Given the description of an element on the screen output the (x, y) to click on. 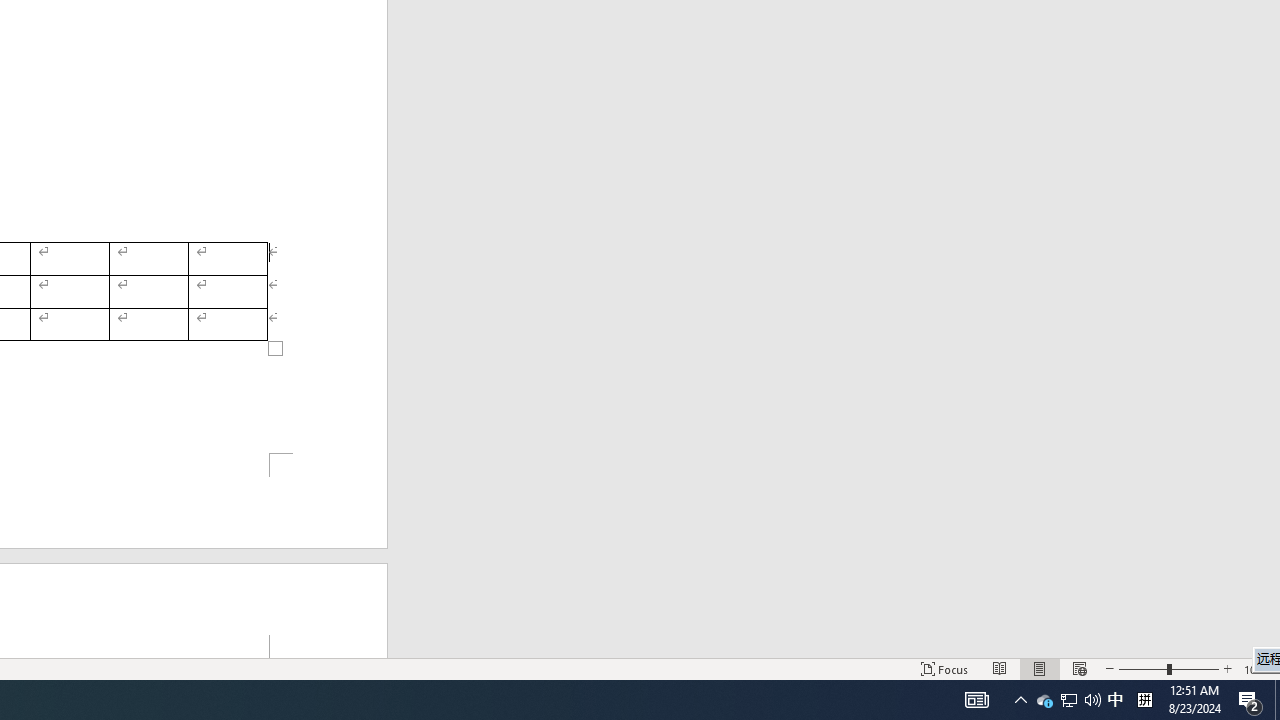
Zoom 100% (1258, 668)
